Given the description of an element on the screen output the (x, y) to click on. 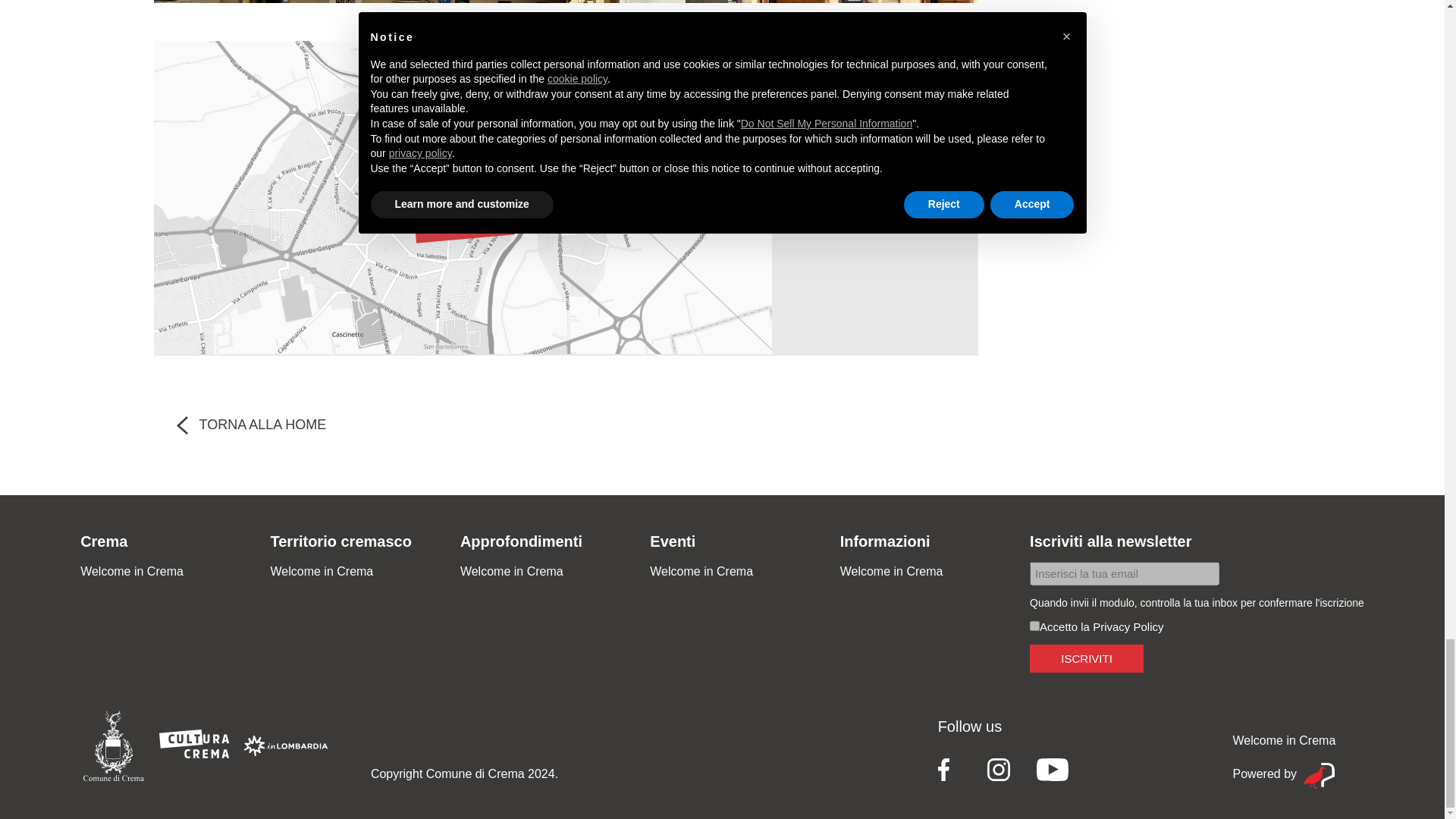
on (1034, 625)
Vedi mappa (462, 199)
